Given the description of an element on the screen output the (x, y) to click on. 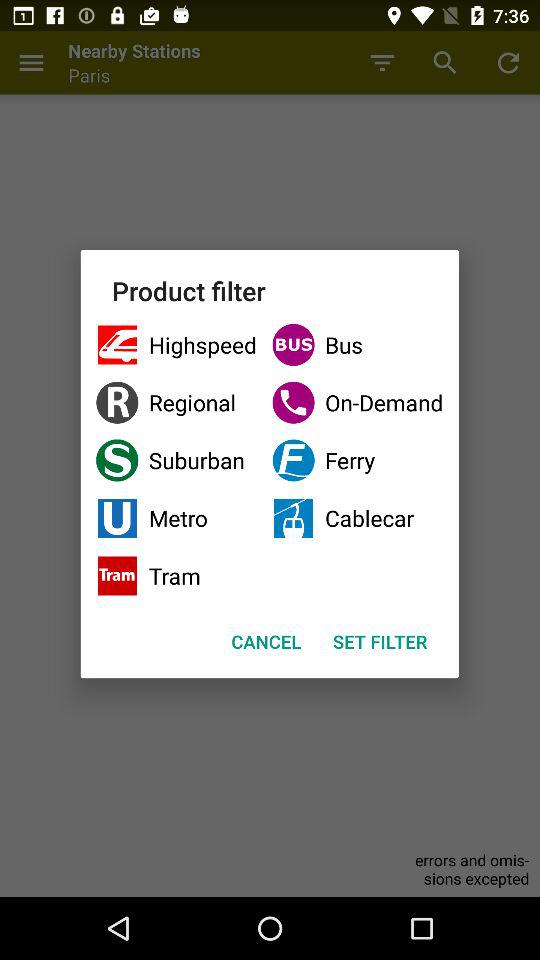
flip until the ferry item (357, 460)
